Given the description of an element on the screen output the (x, y) to click on. 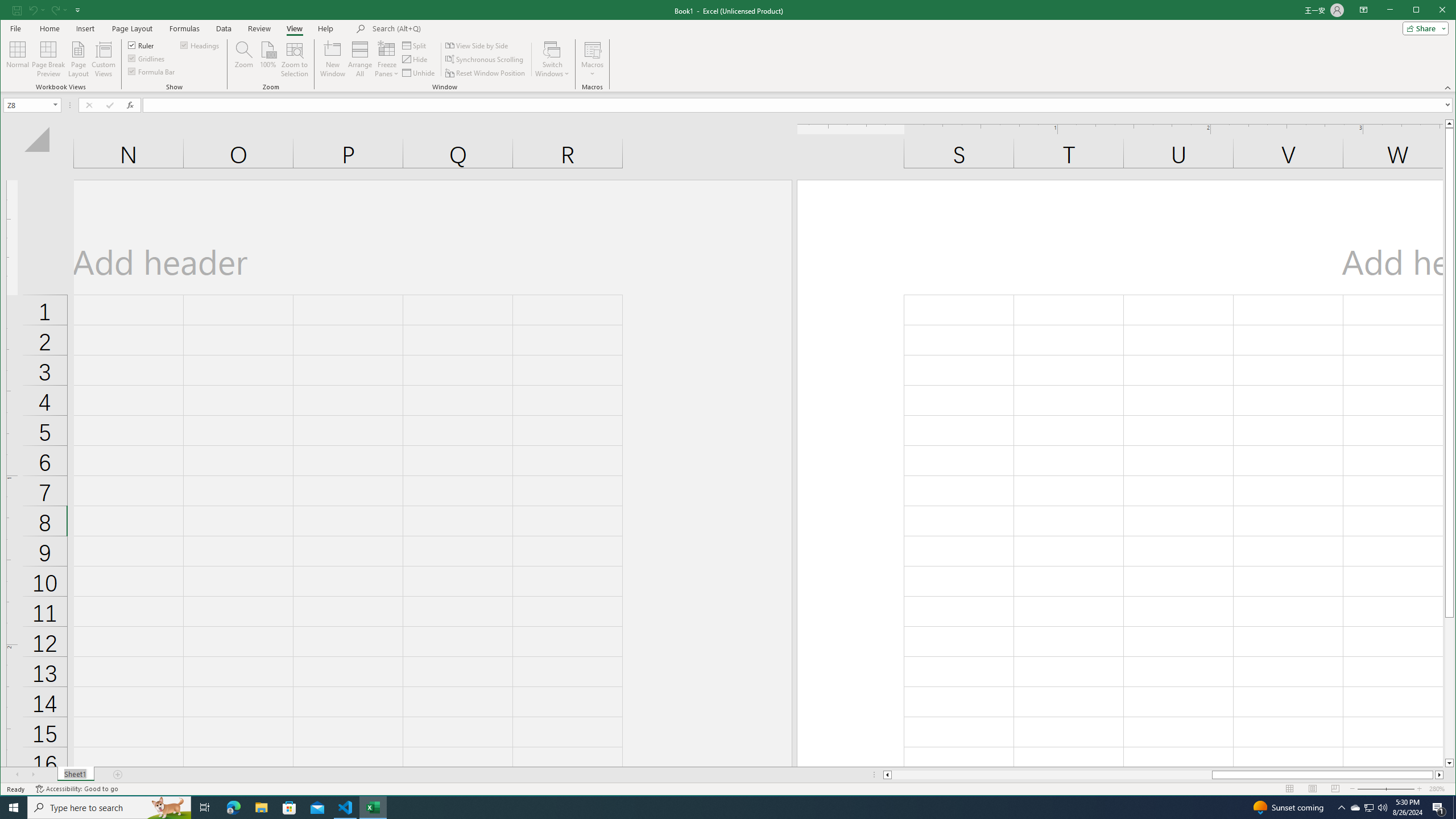
File Explorer (261, 807)
Task View (204, 807)
